Given the description of an element on the screen output the (x, y) to click on. 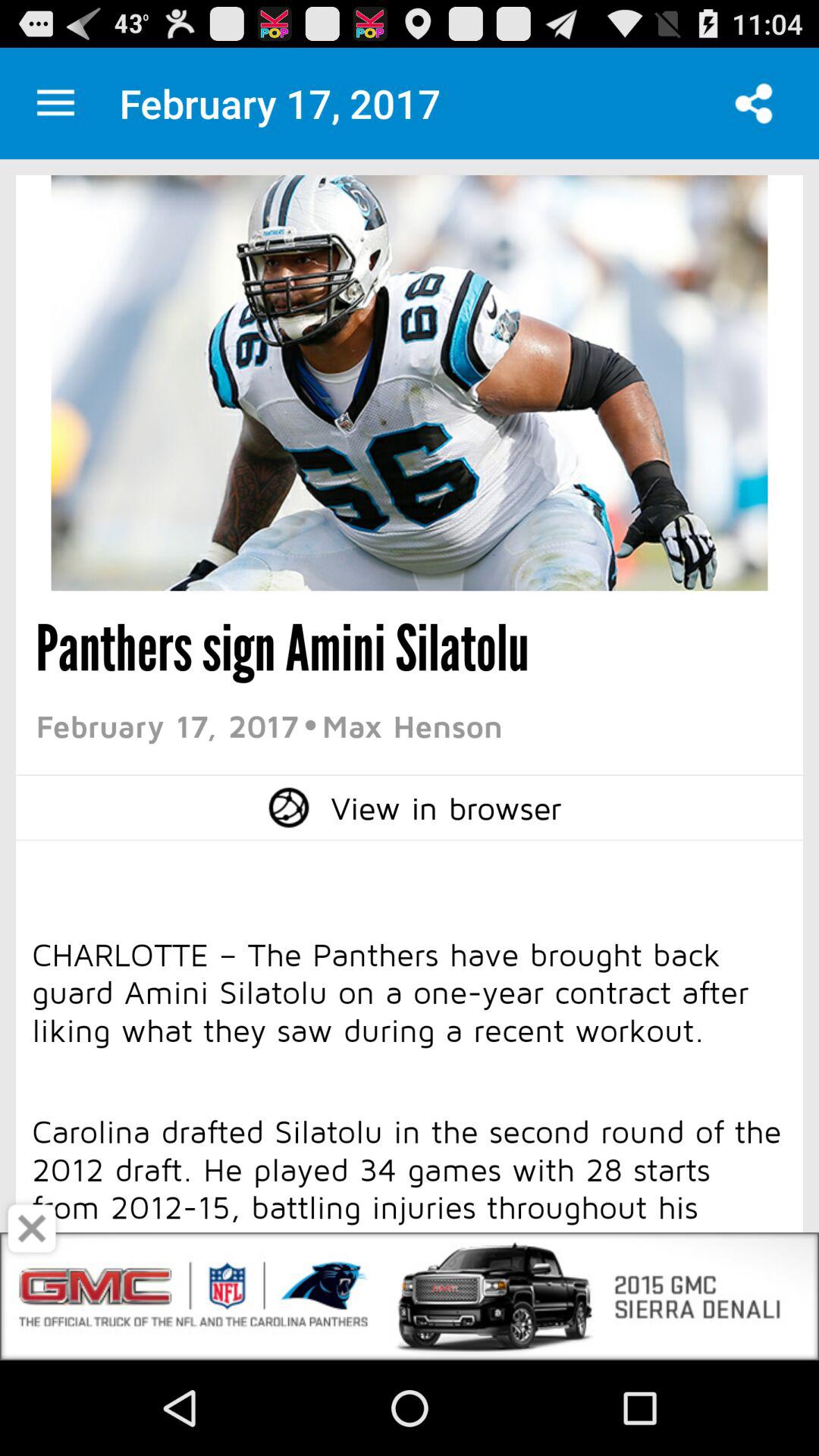
advertisement logo (409, 1296)
